Given the description of an element on the screen output the (x, y) to click on. 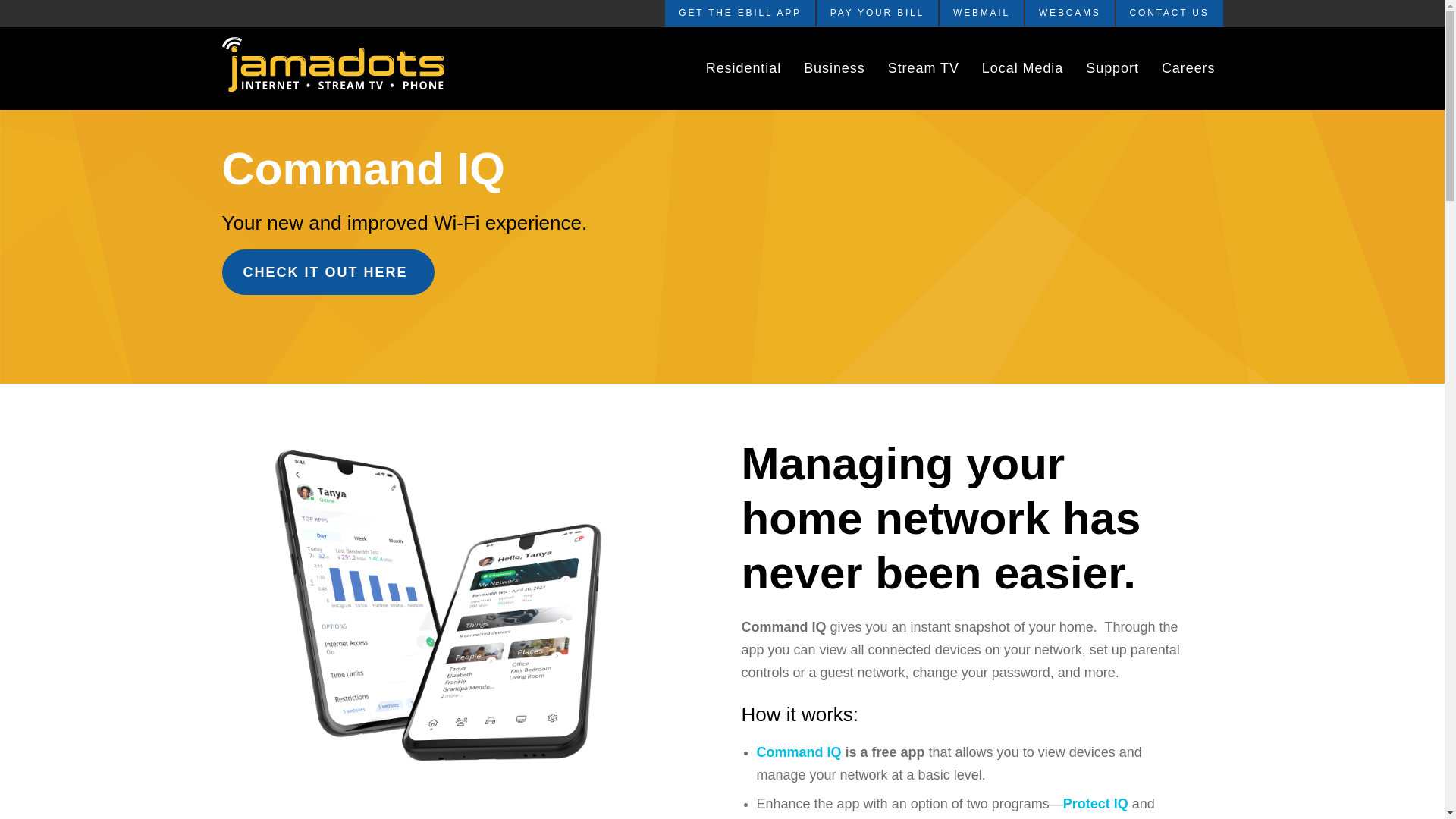
Careers (1188, 68)
Command IQ Quick (327, 271)
Home (339, 67)
Residential (743, 68)
Command IQ Dashboard (799, 752)
Command IQ (799, 752)
Stream TV (923, 68)
Support (1112, 68)
CONTACT US (1169, 13)
CHECK IT OUT HERE  (327, 271)
PAY YOUR BILL (876, 13)
WEBCAMS (1070, 13)
Click for How-to video (739, 13)
WEBMAIL (981, 13)
